Given the description of an element on the screen output the (x, y) to click on. 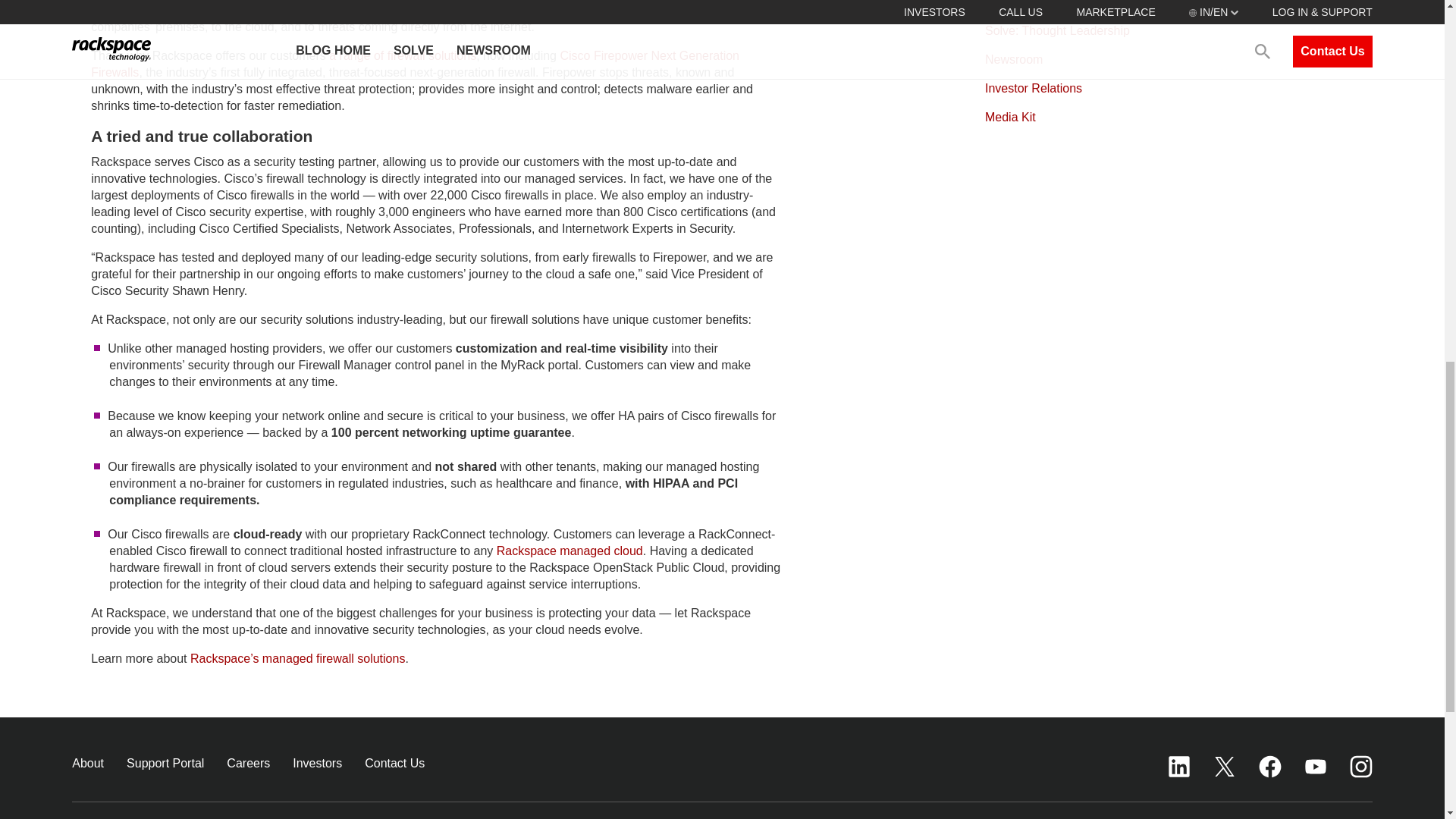
Blog Home (1015, 4)
Newsroom (1013, 59)
Cisco Firepower Next Generation Firewalls (414, 63)
Solve: Thought Leadership (1057, 30)
Rackspace managed  (555, 550)
Investor Relations (1033, 88)
cloud (628, 550)
a range of firewall solutions (402, 55)
